Given the description of an element on the screen output the (x, y) to click on. 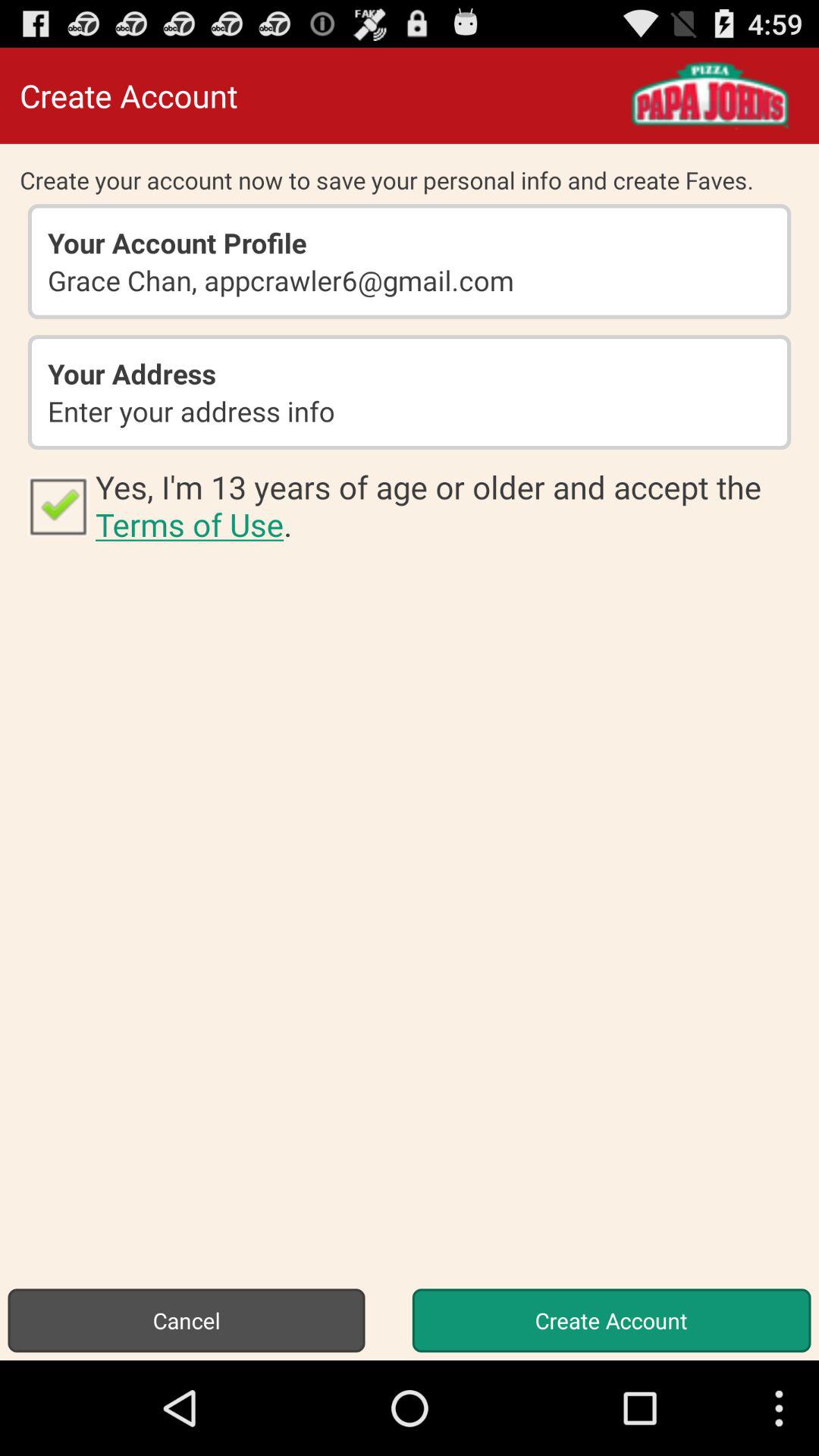
turn off icon above cancel item (447, 505)
